Given the description of an element on the screen output the (x, y) to click on. 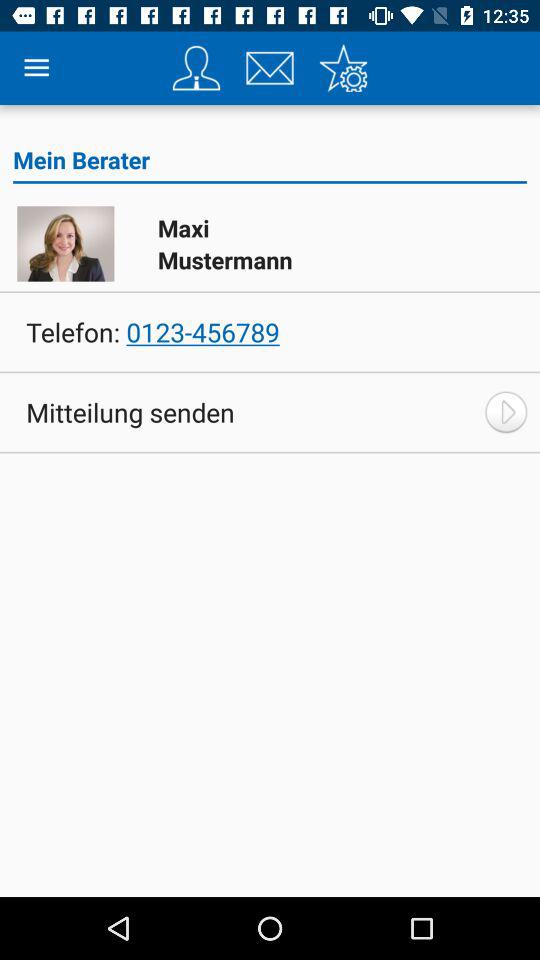
click telefon: 0123-456789 icon (152, 331)
